Given the description of an element on the screen output the (x, y) to click on. 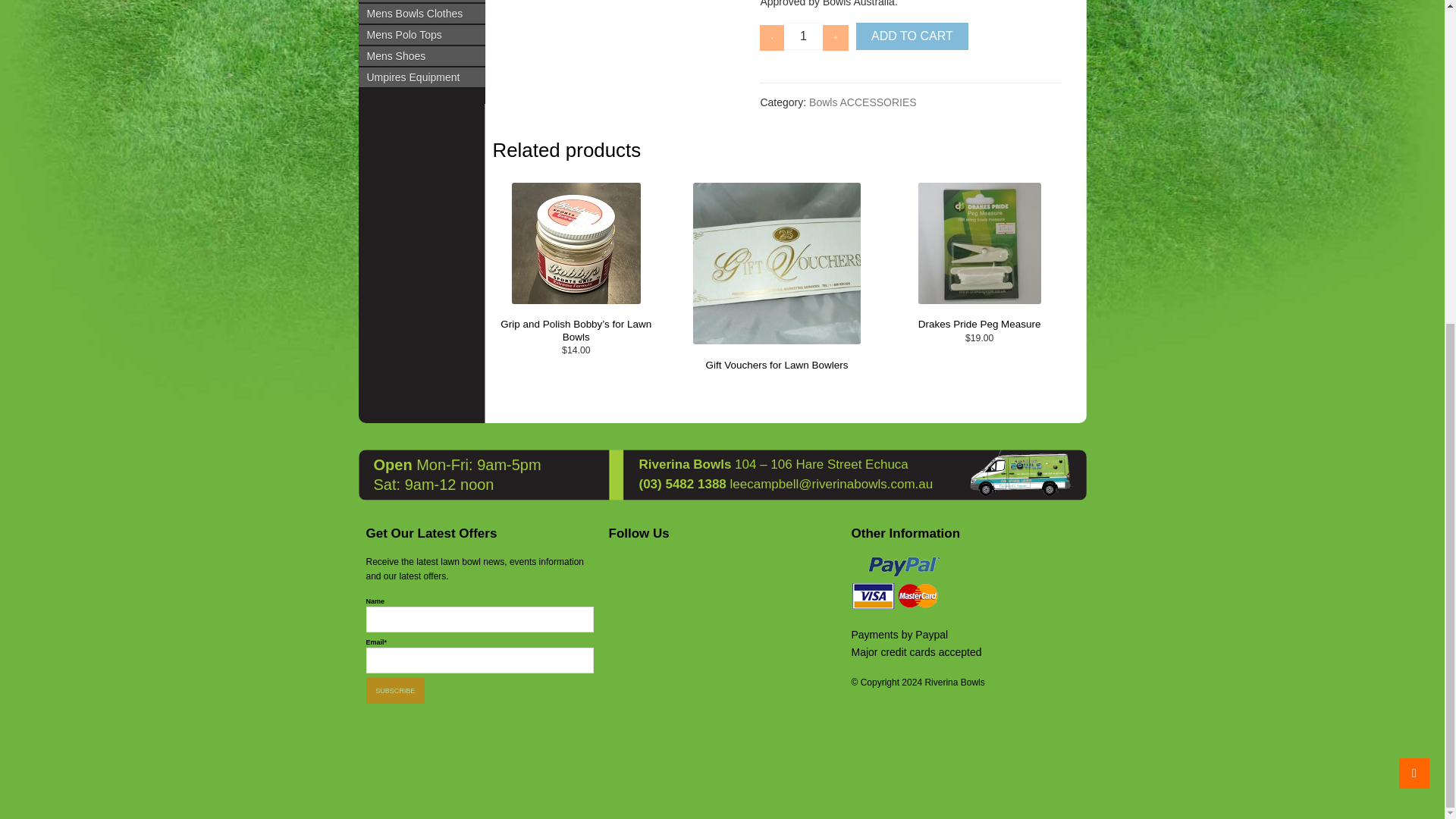
Qty (803, 35)
Umpires Equipment (421, 76)
Mens Shoes (421, 55)
Lawn Bowls Hats (421, 1)
Mens Bowls Clothes (421, 13)
Subscribe (394, 690)
Bowls ACCESSORIES (863, 102)
1 (803, 35)
ADD TO CART (912, 35)
- (772, 37)
